Given the description of an element on the screen output the (x, y) to click on. 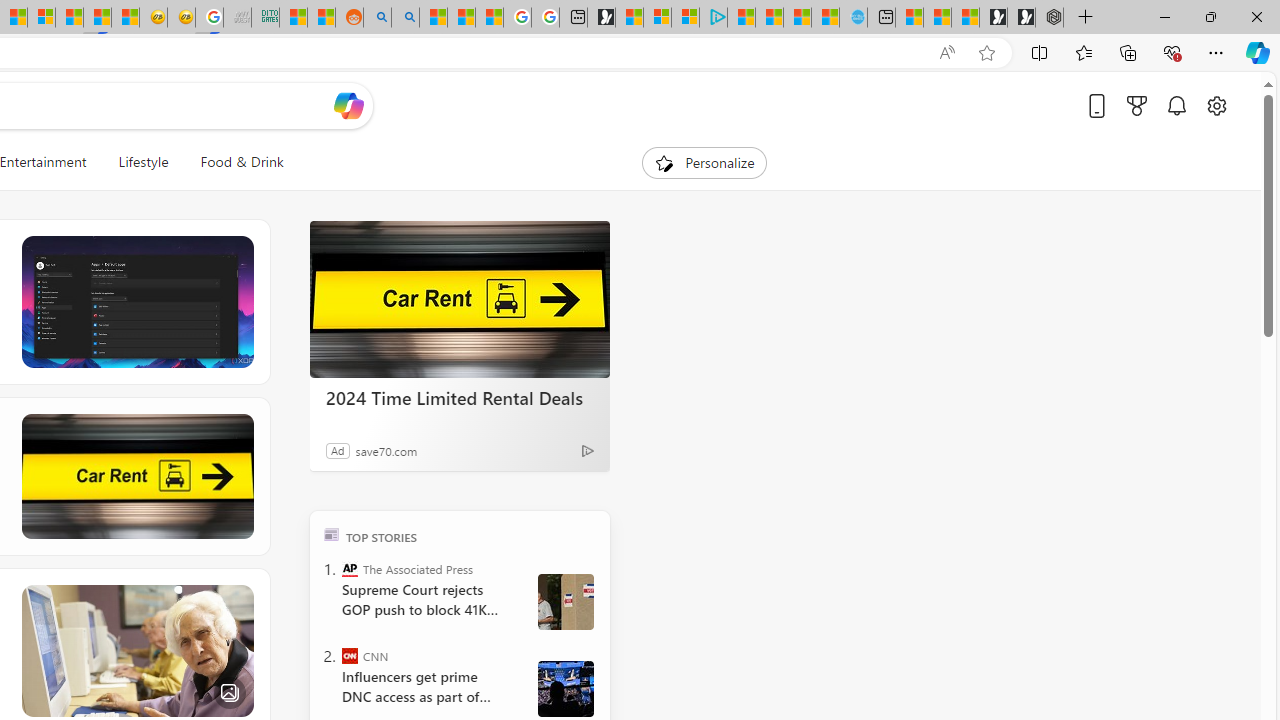
2024 Promotion - Book Here (136, 476)
TOP (331, 534)
